Given the description of an element on the screen output the (x, y) to click on. 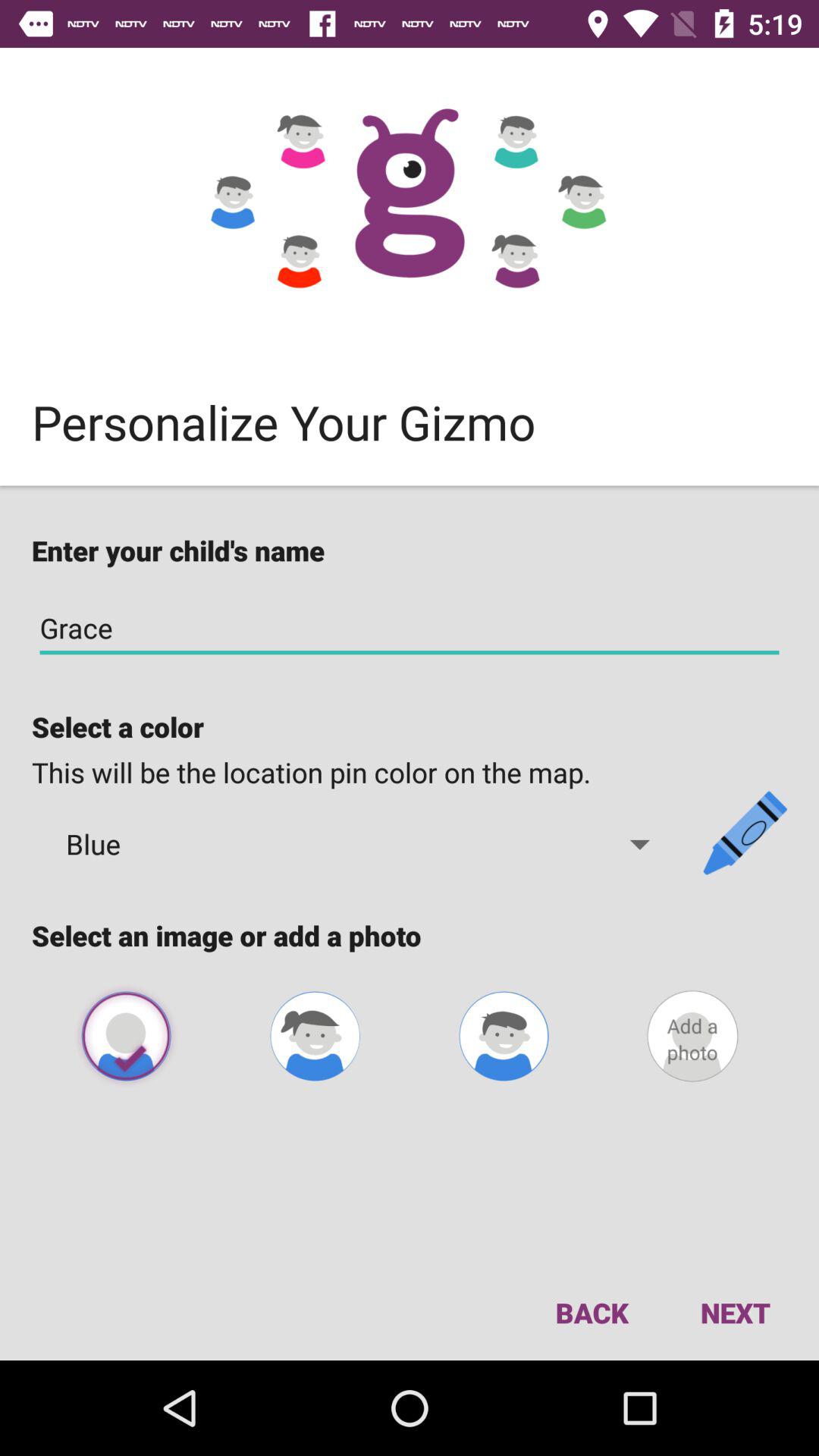
select avatar (503, 1036)
